Given the description of an element on the screen output the (x, y) to click on. 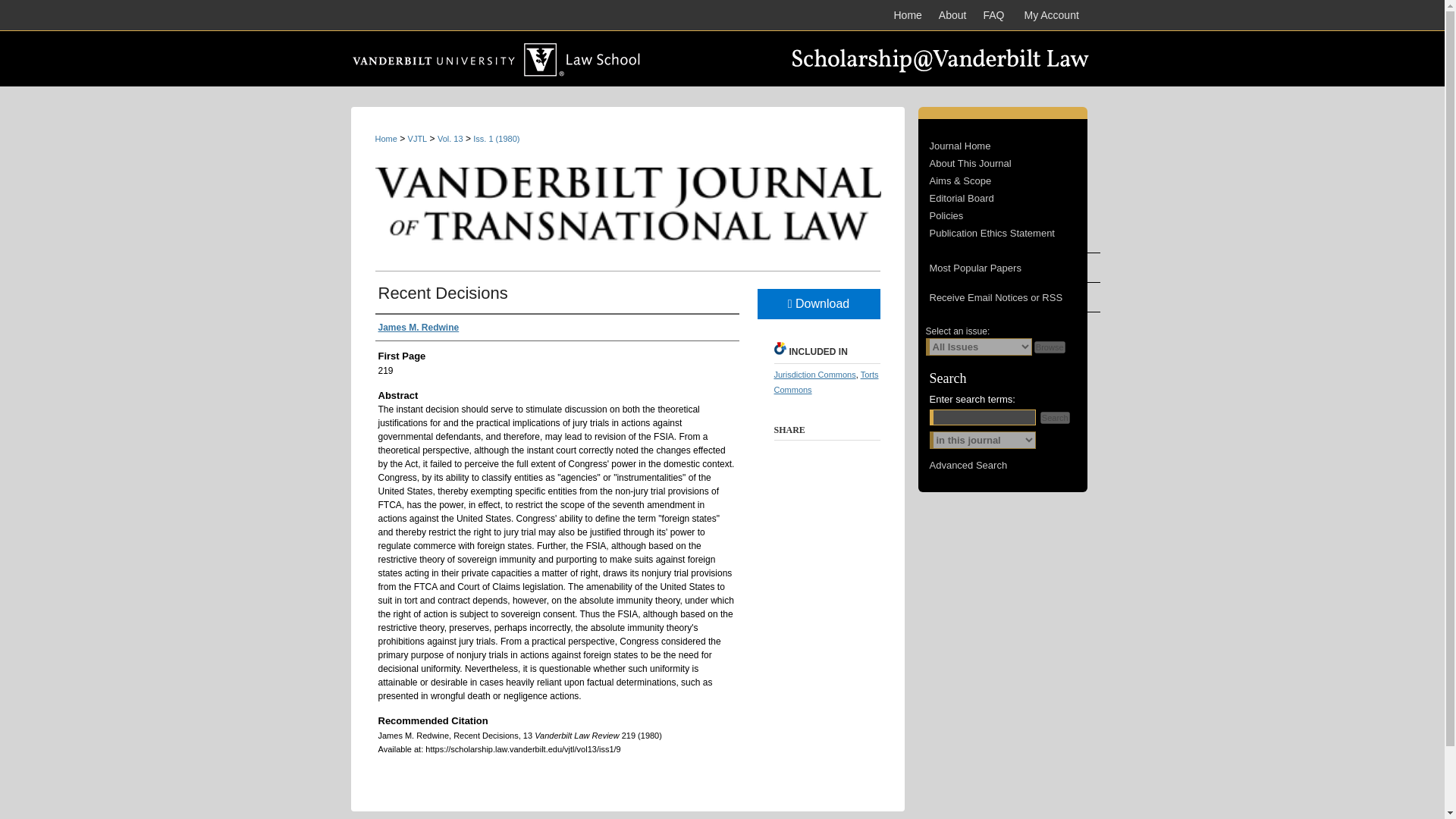
Torts Commons (825, 381)
Search (1055, 417)
Recent Decisions (441, 292)
Editorial Board (1015, 197)
Home (385, 138)
About (952, 15)
Jurisdiction Commons (814, 374)
Search (1055, 417)
Browse (1049, 346)
Vol. 13 (450, 138)
Home (907, 15)
James M. Redwine (417, 327)
View the top downloaded papers (1008, 267)
Policies (1015, 215)
About (952, 15)
